Given the description of an element on the screen output the (x, y) to click on. 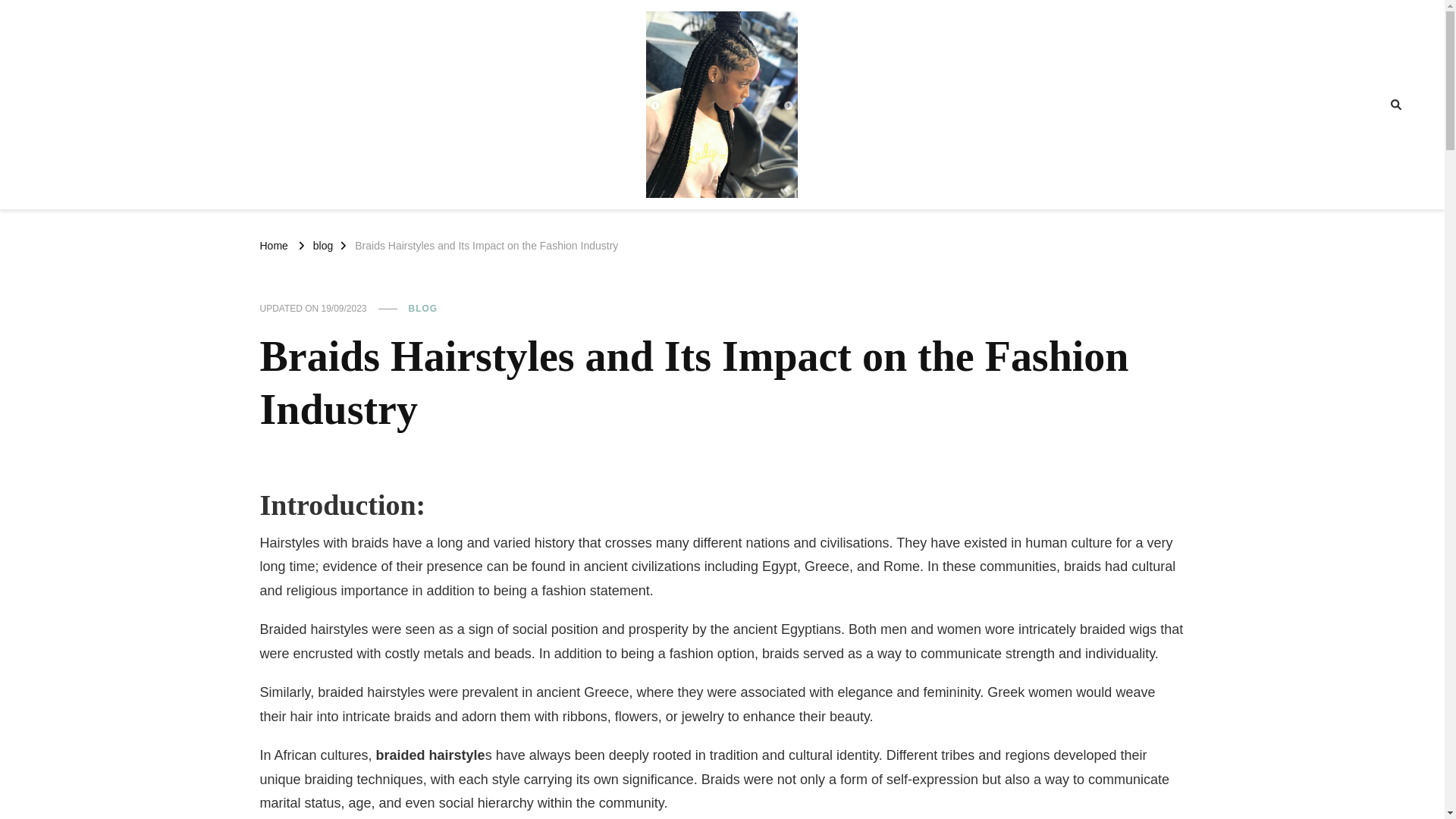
BLOG (422, 309)
uBraids (760, 212)
Braids Hairstyles and Its Impact on the Fashion Industry (486, 244)
Search (1368, 104)
blog (323, 244)
Home (272, 244)
